Given the description of an element on the screen output the (x, y) to click on. 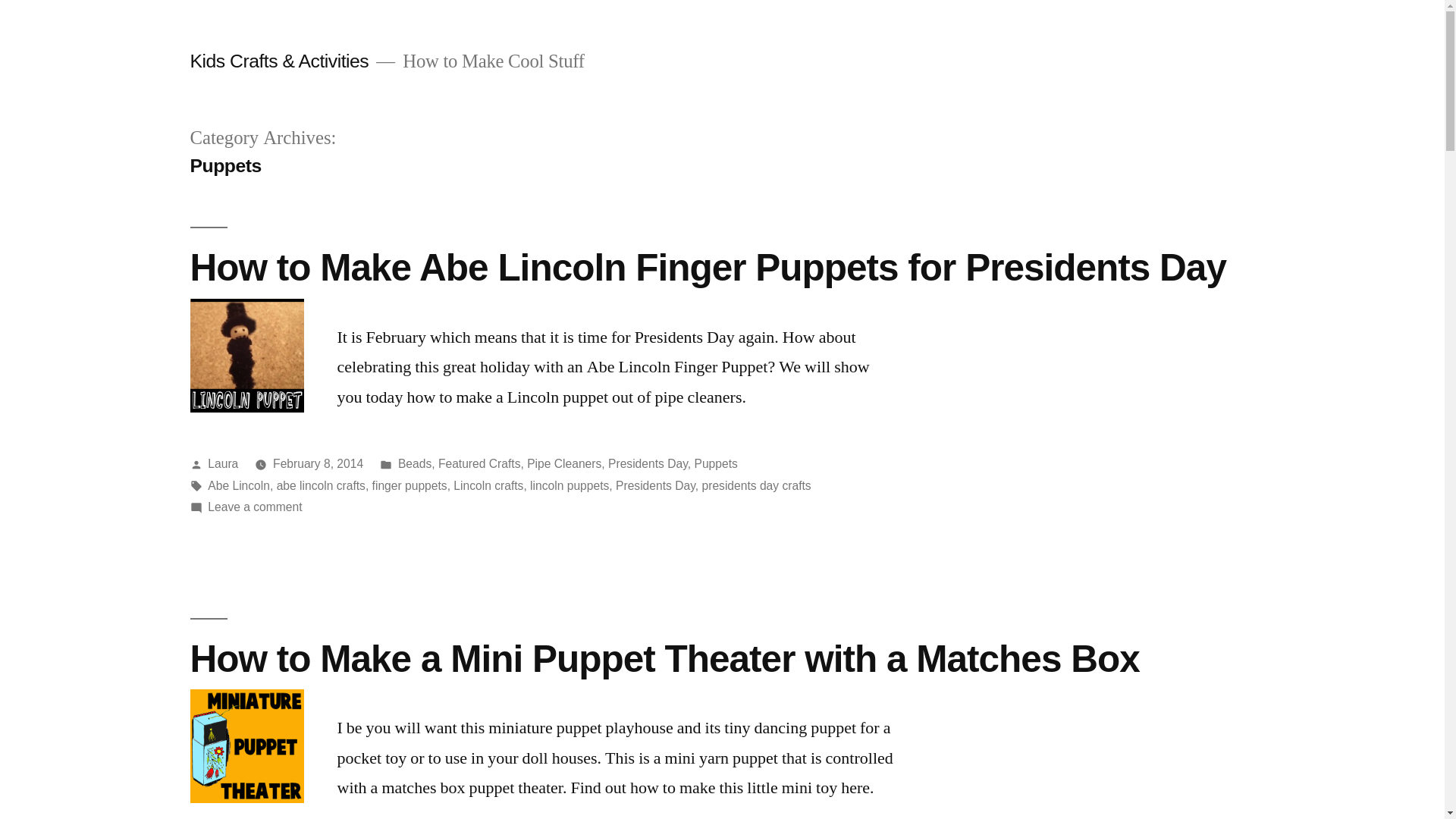
presidents day crafts (755, 485)
Puppets (715, 463)
How to Make Abe Lincoln Finger Puppets for Presidents Day (707, 267)
Pipe Cleaners (564, 463)
Abe Lincoln (238, 485)
Featured Crafts (479, 463)
Presidents Day (655, 485)
abe lincoln crafts (320, 485)
lincoln puppets (568, 485)
February 8, 2014 (317, 463)
